Given the description of an element on the screen output the (x, y) to click on. 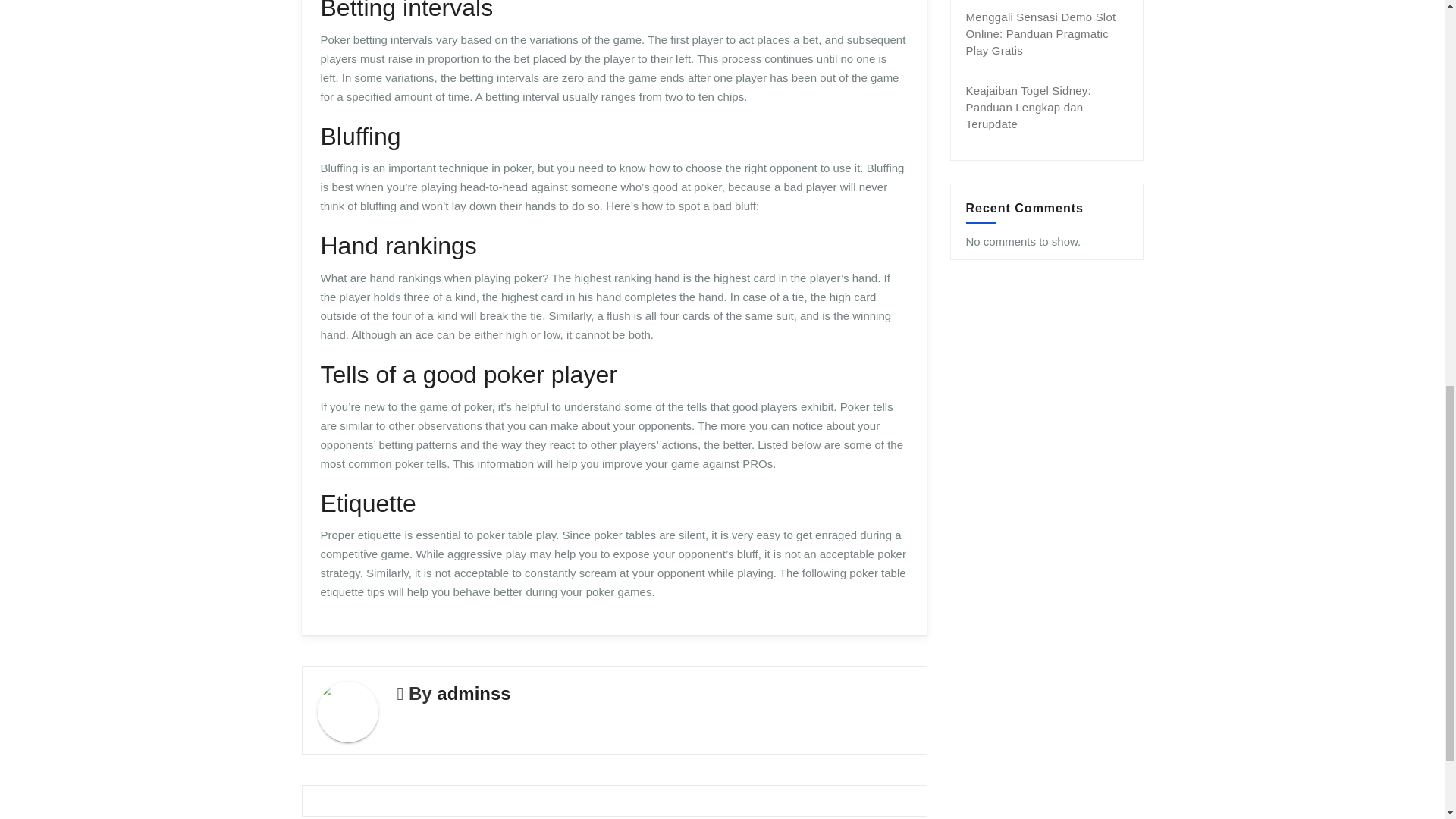
Keajaiban Togel Sidney: Panduan Lengkap dan Terupdate (1028, 107)
adminss (473, 693)
